Given the description of an element on the screen output the (x, y) to click on. 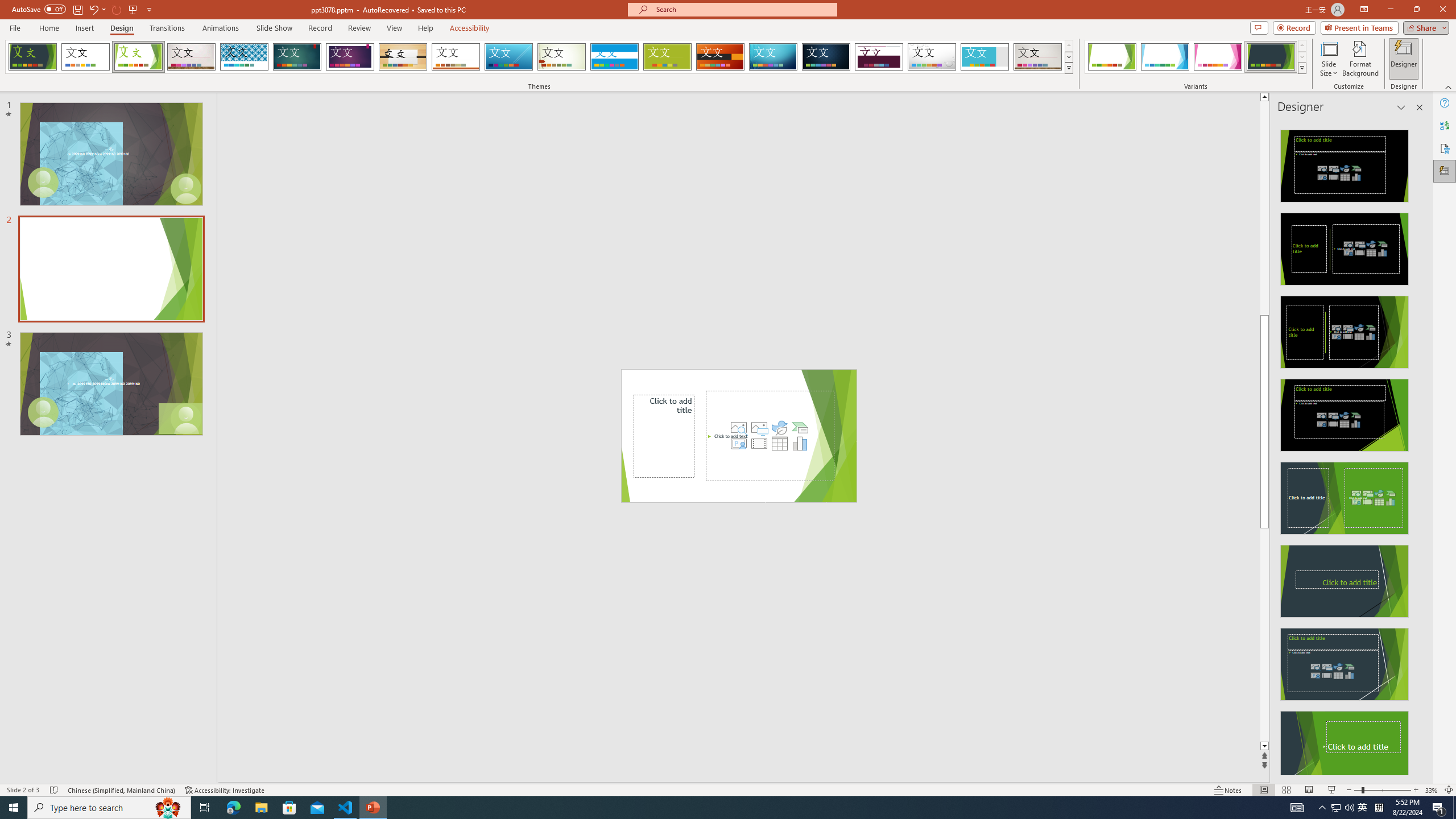
Berlin (720, 56)
Facet Variant 3 (1217, 56)
Facet Variant 2 (1164, 56)
Insert Video (758, 443)
AutomationID: ThemeVariantsGallery (1195, 56)
Damask (826, 56)
